Given the description of an element on the screen output the (x, y) to click on. 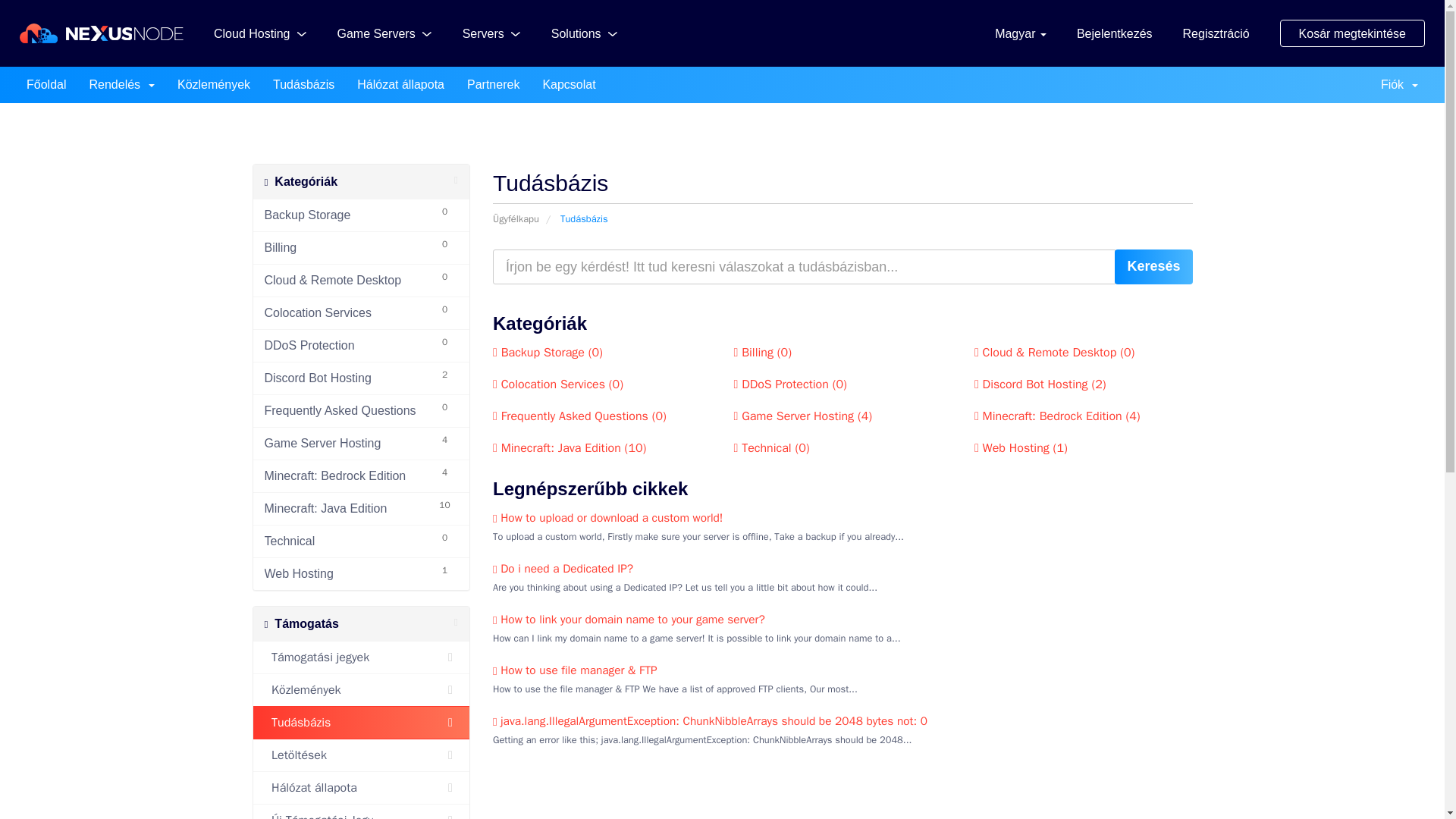
Servers (492, 33)
Magyar (1020, 33)
Cloud Hosting (260, 33)
Solutions (584, 33)
Game Servers (383, 33)
